Given the description of an element on the screen output the (x, y) to click on. 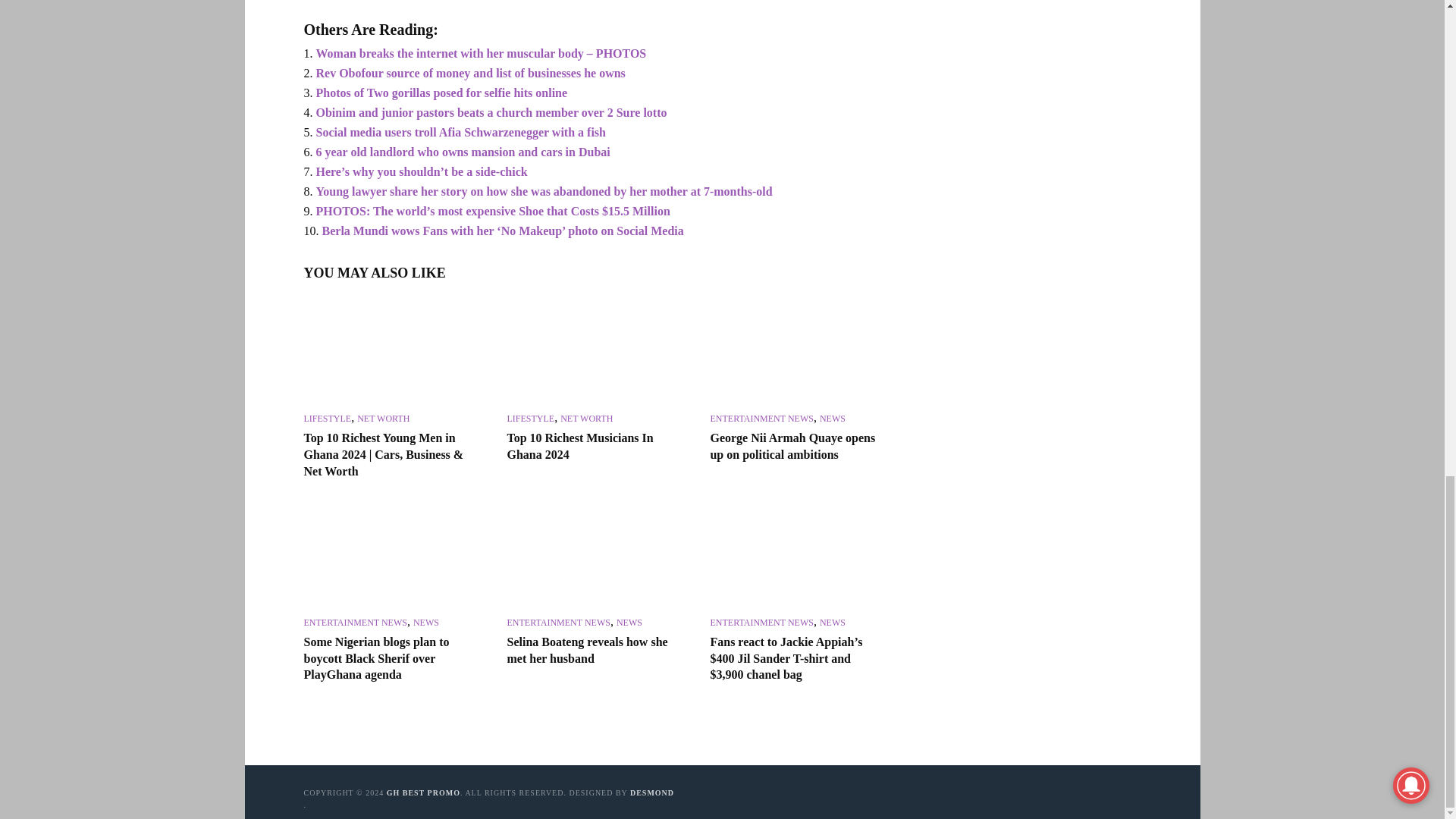
Rev Obofour source of money and list of businesses he owns (469, 72)
6 year old landlord who owns mansion and cars in Dubai (462, 151)
Rev Obofour source of money and list of businesses he owns (469, 72)
Top 10 Richest Musicians In Ghana 2024 (594, 352)
Photos of Two gorillas posed for selfie hits online (441, 92)
Social media users troll Afia Schwarzenegger with a fish (460, 132)
